Given the description of an element on the screen output the (x, y) to click on. 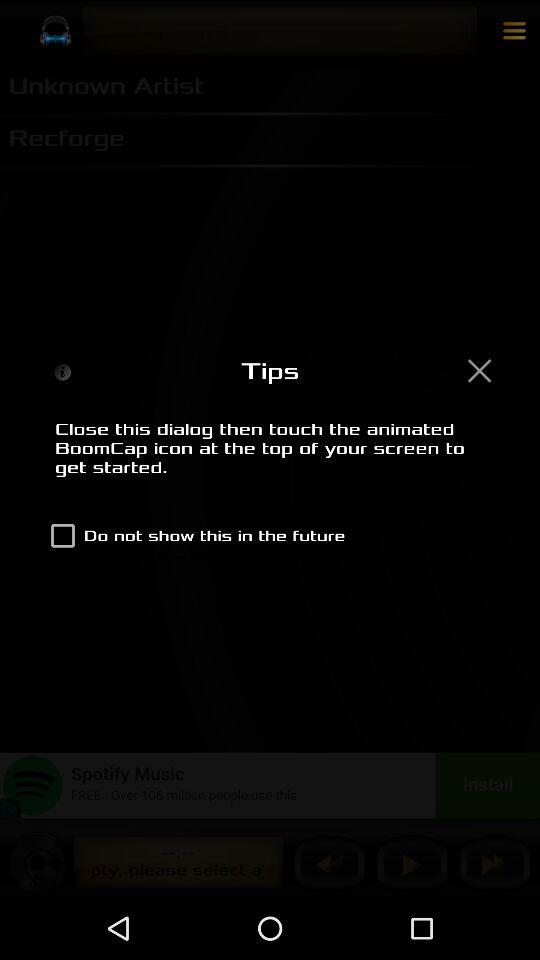
scroll to do not show (193, 535)
